Given the description of an element on the screen output the (x, y) to click on. 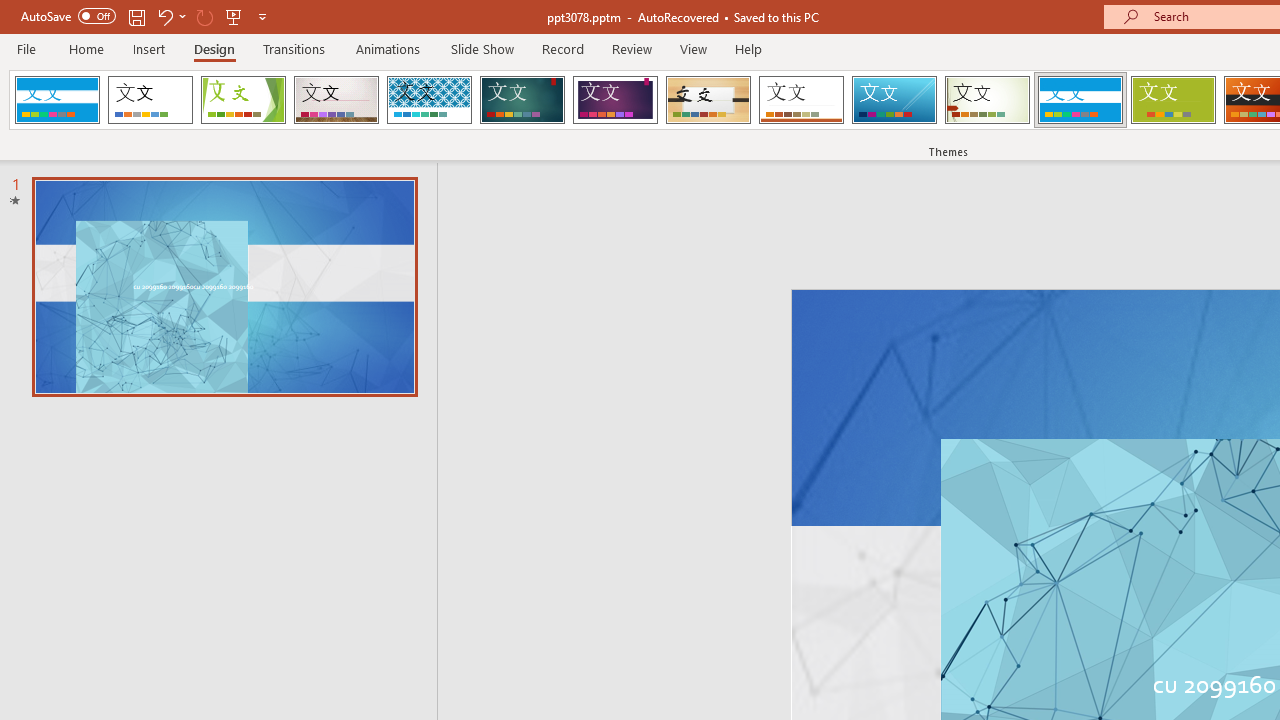
Ion (522, 100)
Retrospect (801, 100)
Office Theme (150, 100)
Banded (1080, 100)
Gallery (336, 100)
